Given the description of an element on the screen output the (x, y) to click on. 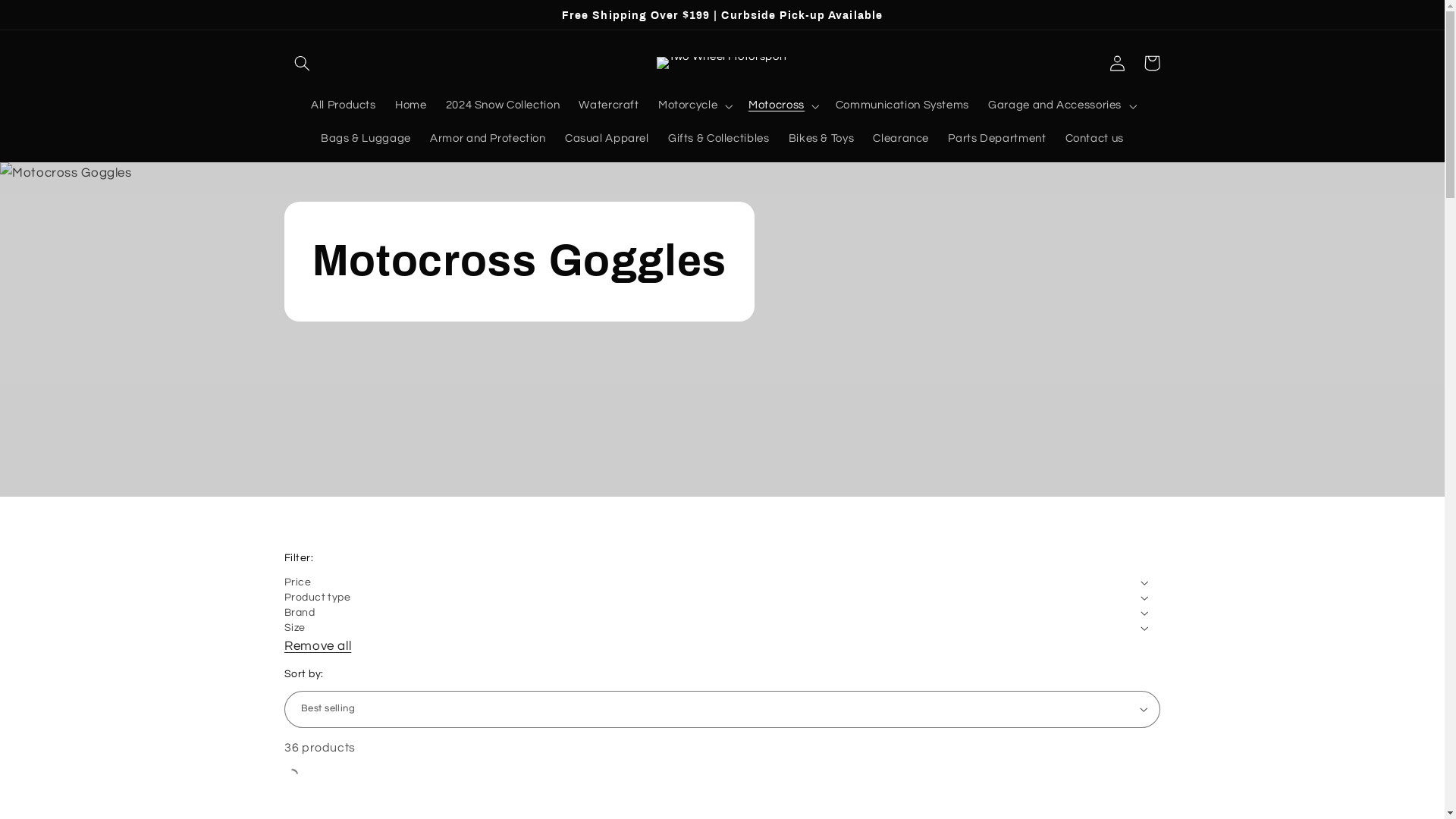
Armor and Protection Element type: text (487, 139)
Home Element type: text (410, 105)
Remove all Element type: text (317, 645)
Communication Systems Element type: text (901, 105)
Watercraft Element type: text (609, 105)
Bikes & Toys Element type: text (820, 139)
Clearance Element type: text (900, 139)
Gifts & Collectibles Element type: text (718, 139)
Parts Department Element type: text (996, 139)
Cart Element type: text (1151, 62)
Casual Apparel Element type: text (606, 139)
All Products Element type: text (343, 105)
Bags & Luggage Element type: text (365, 139)
2024 Snow Collection Element type: text (502, 105)
Contact us Element type: text (1094, 139)
Log in Element type: text (1116, 62)
